Given the description of an element on the screen output the (x, y) to click on. 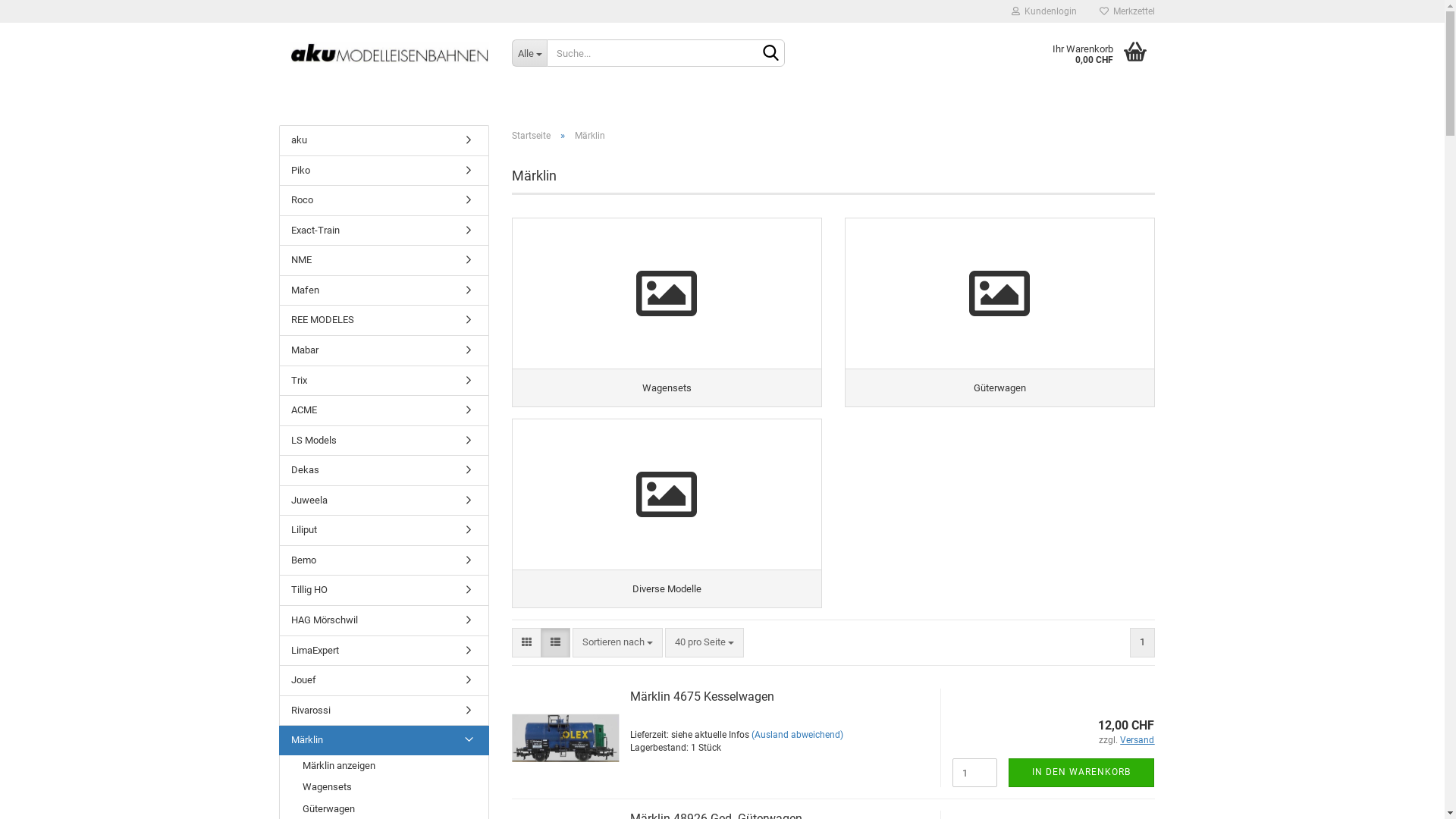
LimaExpert Element type: text (383, 650)
REE MODELES Element type: text (383, 320)
Versand Element type: text (1137, 739)
Anmelden Element type: text (960, 185)
Trix Element type: text (383, 380)
Wagensets Element type: text (666, 312)
IN DEN WARENKORB Element type: text (1081, 772)
Alle Element type: text (528, 52)
aku-Webshop Element type: hover (389, 52)
Liliput Element type: text (383, 530)
Ihr Warenkorb
0,00 CHF Element type: text (1091, 52)
Rivarossi Element type: text (383, 710)
aku Element type: text (383, 140)
Bemo Element type: text (383, 560)
NME Element type: text (383, 260)
Wagensets Element type: text (383, 787)
40 pro Seite Element type: text (704, 642)
Roco Element type: text (383, 200)
Sortieren nach Element type: text (617, 642)
Piko Element type: text (383, 170)
Dekas Element type: text (383, 470)
 Merkzettel Element type: text (1126, 11)
Jouef Element type: text (383, 680)
 Kundenlogin Element type: text (1043, 11)
Tillig HO Element type: text (383, 590)
Diverse Modelle Element type: text (666, 513)
Juweela Element type: text (383, 500)
Mafen Element type: text (383, 290)
ACME Element type: text (383, 410)
(Ausland abweichend) Element type: text (797, 734)
Startseite Element type: text (530, 135)
LS Models Element type: text (383, 440)
Mabar Element type: text (383, 350)
Exact-Train Element type: text (383, 230)
